Given the description of an element on the screen output the (x, y) to click on. 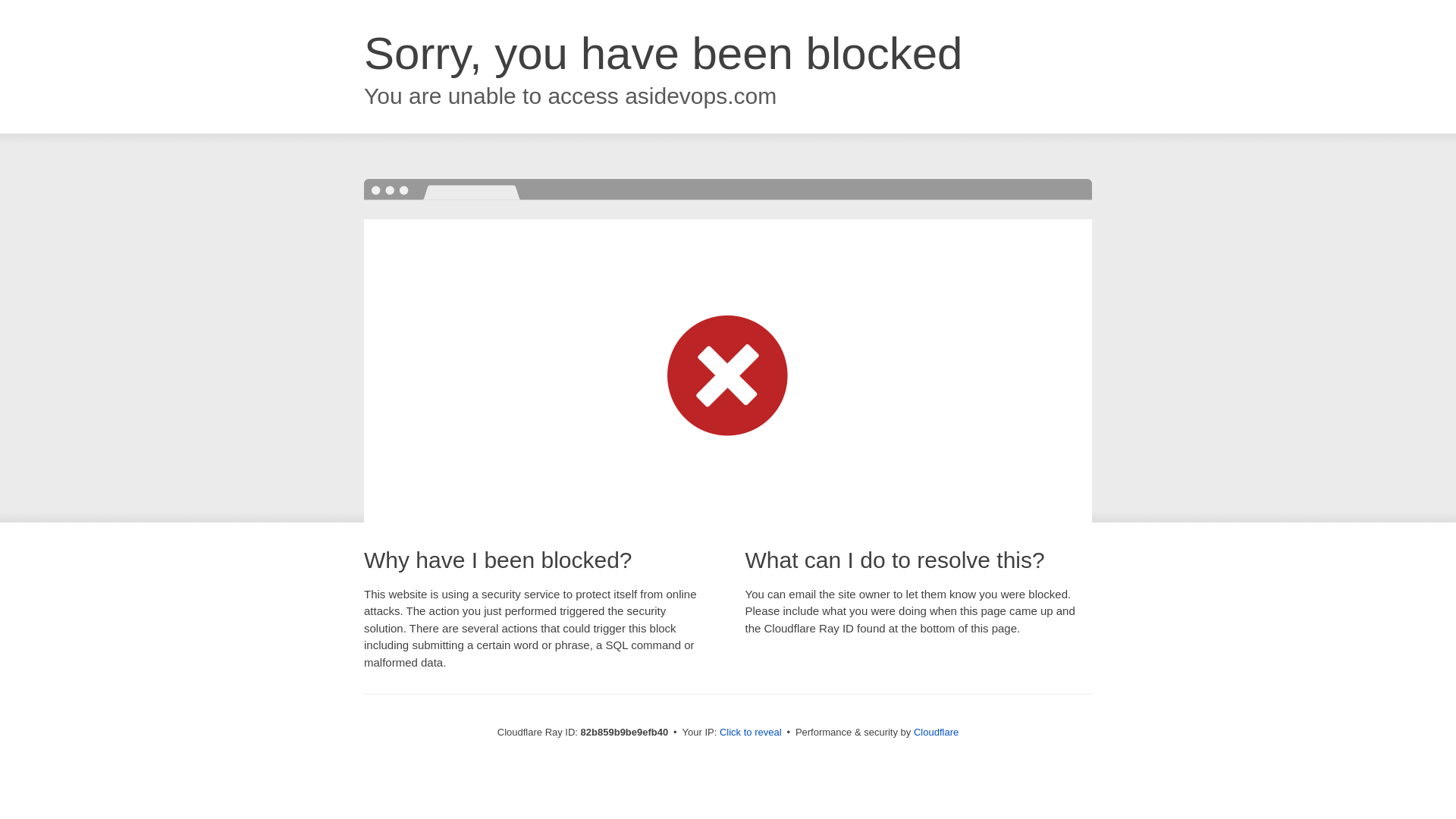
Cloudflare Element type: text (935, 731)
Click to reveal Element type: text (750, 732)
